Given the description of an element on the screen output the (x, y) to click on. 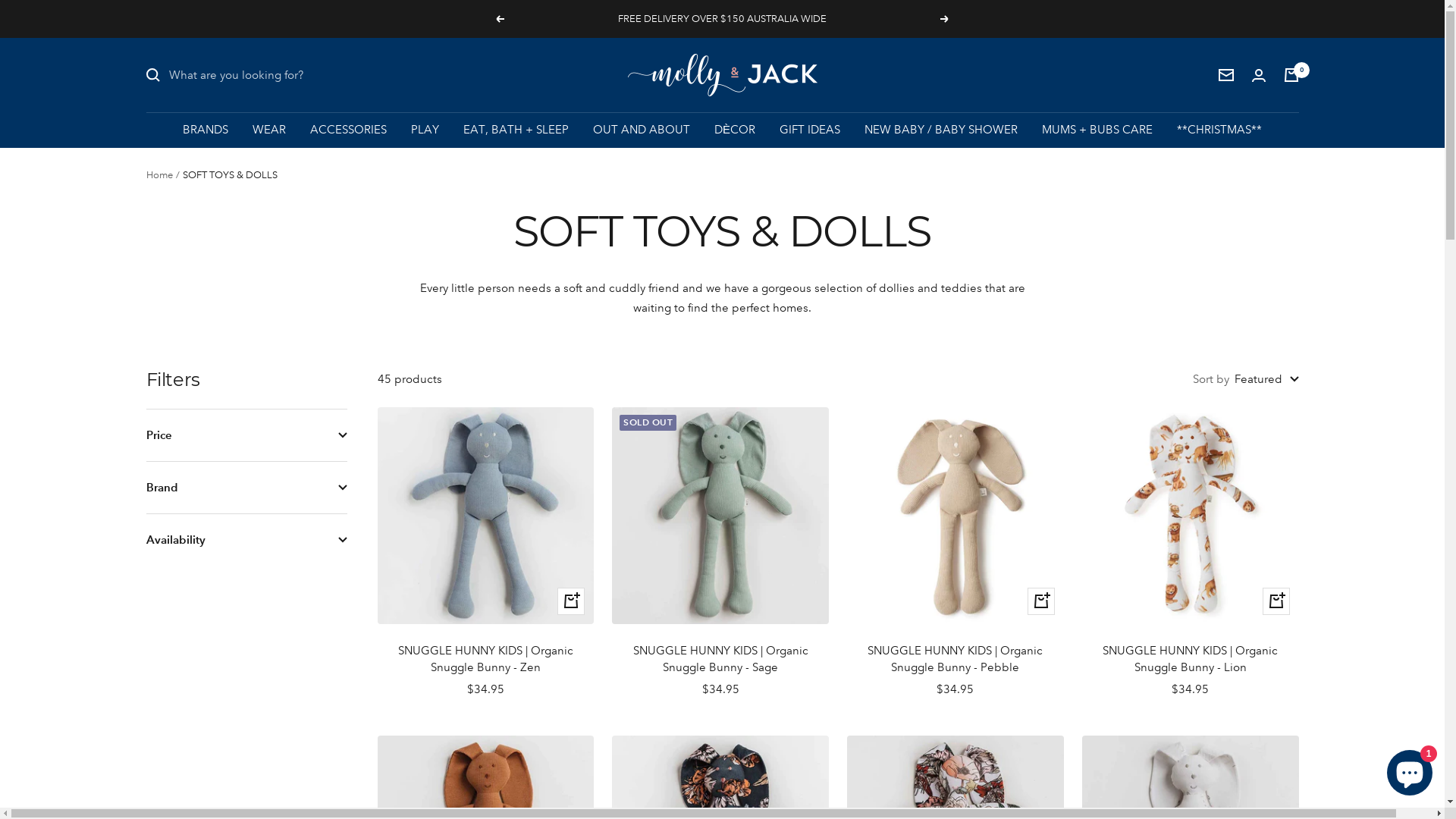
Previous Element type: text (499, 18)
PLAY Element type: text (425, 129)
Shopify online store chat Element type: hover (1409, 769)
Featured Element type: text (1266, 379)
Home Element type: text (158, 175)
EAT, BATH + SLEEP Element type: text (515, 129)
SNUGGLE HUNNY KIDS | Organic Snuggle Bunny - Sage Element type: text (719, 659)
**CHRISTMAS** Element type: text (1218, 129)
Newsletter Element type: text (1225, 75)
+ Add to cart Element type: text (570, 601)
SNUGGLE HUNNY KIDS | Organic Snuggle Bunny - Zen Element type: text (485, 659)
OUT AND ABOUT Element type: text (641, 129)
Molly and Jack Element type: text (722, 74)
WEAR Element type: text (268, 129)
NEW BABY / BABY SHOWER Element type: text (940, 129)
MUMS + BUBS CARE Element type: text (1096, 129)
SNUGGLE HUNNY KIDS | Organic Snuggle Bunny - Lion Element type: text (1190, 659)
0 Element type: text (1290, 74)
Next Element type: text (944, 18)
+ Add to cart Element type: text (1275, 601)
+ Add to cart Element type: text (1040, 601)
Price Element type: text (245, 435)
BRANDS Element type: text (205, 129)
ACCESSORIES Element type: text (348, 129)
Availability Element type: text (245, 539)
Brand Element type: text (245, 487)
SNUGGLE HUNNY KIDS | Organic Snuggle Bunny - Pebble Element type: text (955, 659)
GIFT IDEAS Element type: text (809, 129)
